Given the description of an element on the screen output the (x, y) to click on. 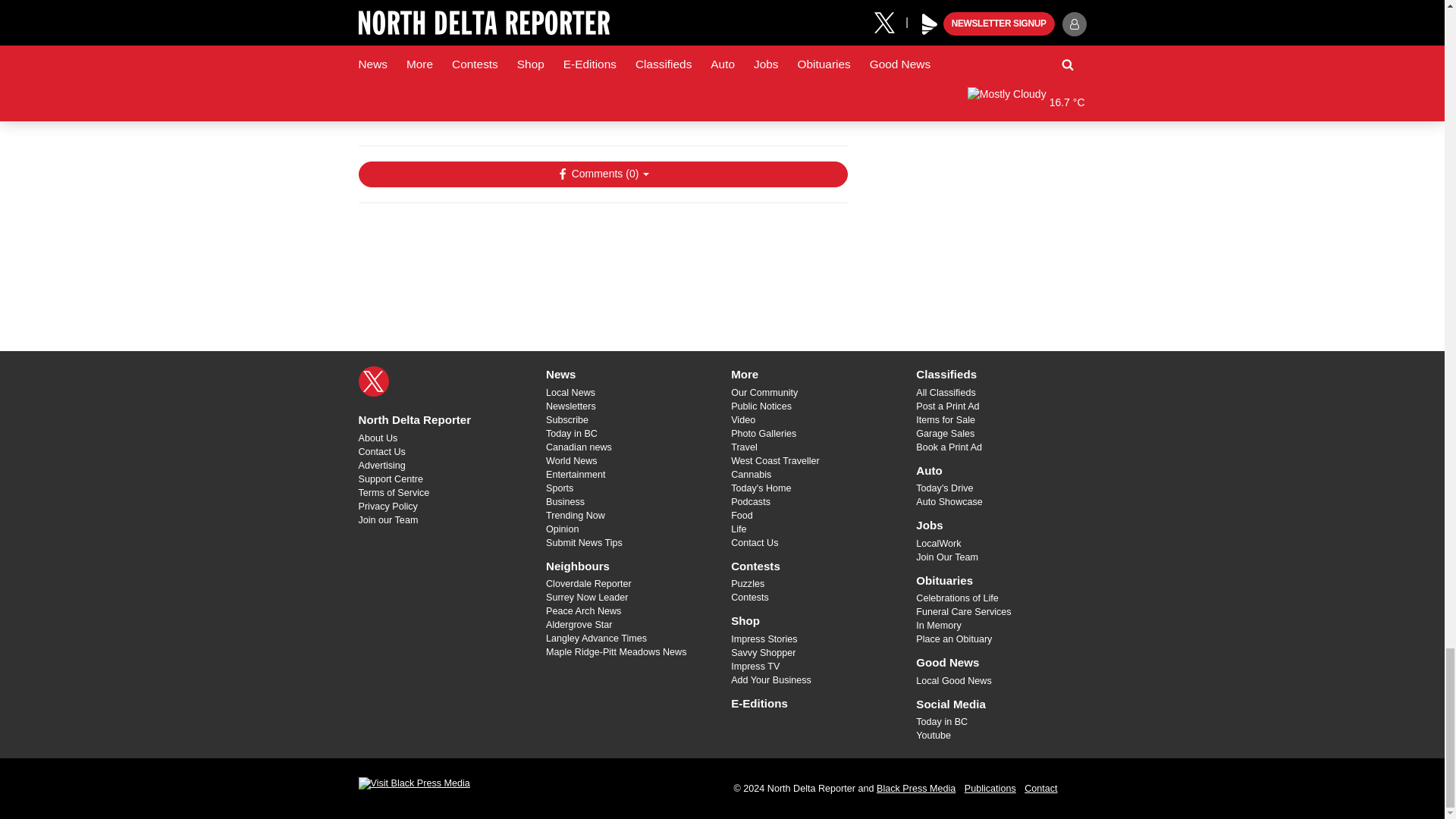
X (373, 381)
Show Comments (602, 174)
